Given the description of an element on the screen output the (x, y) to click on. 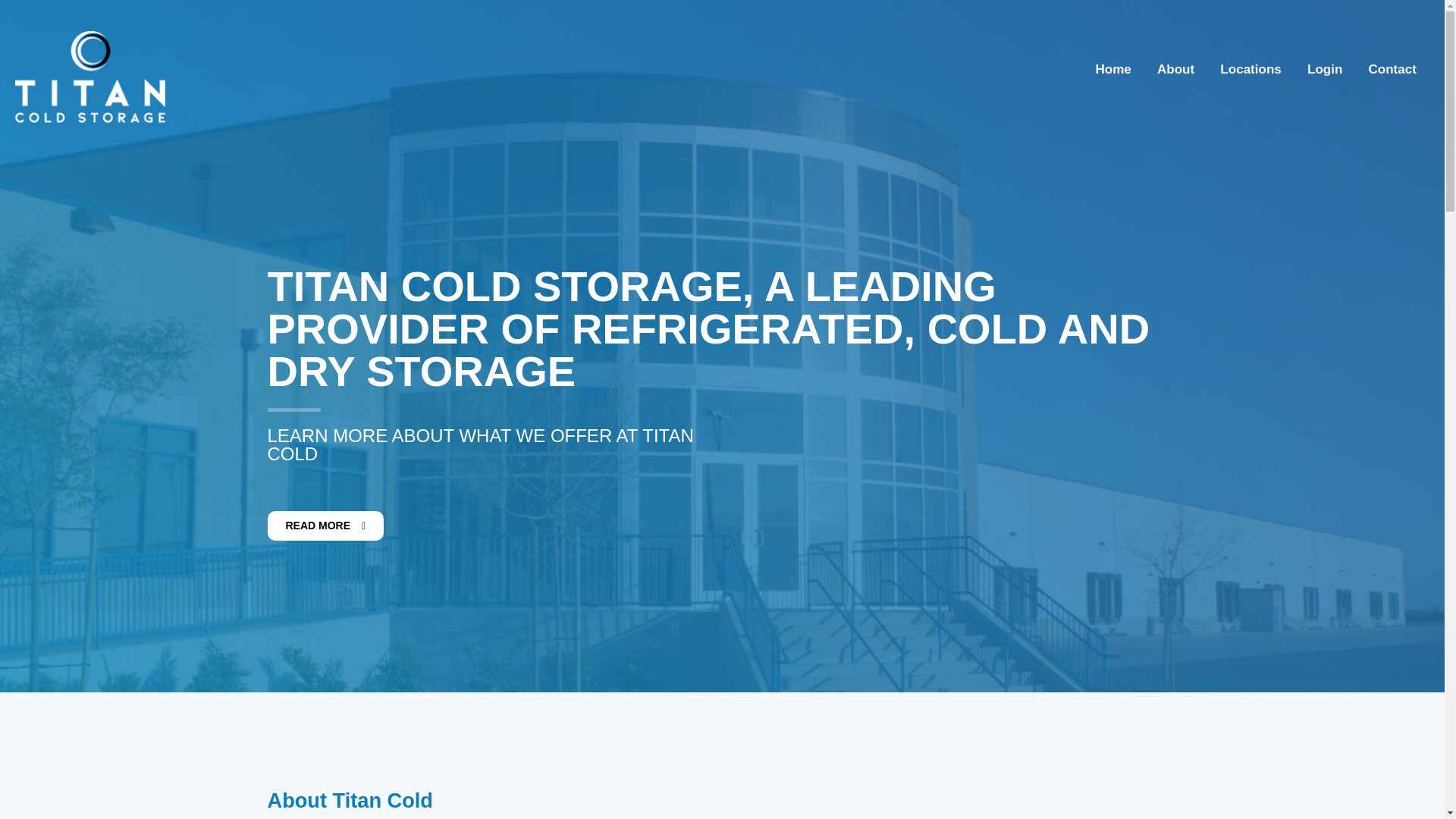
Contact (1392, 69)
About (1175, 69)
Login (1324, 69)
Home (1112, 69)
Locations (1250, 69)
READ MORE (325, 525)
